Given the description of an element on the screen output the (x, y) to click on. 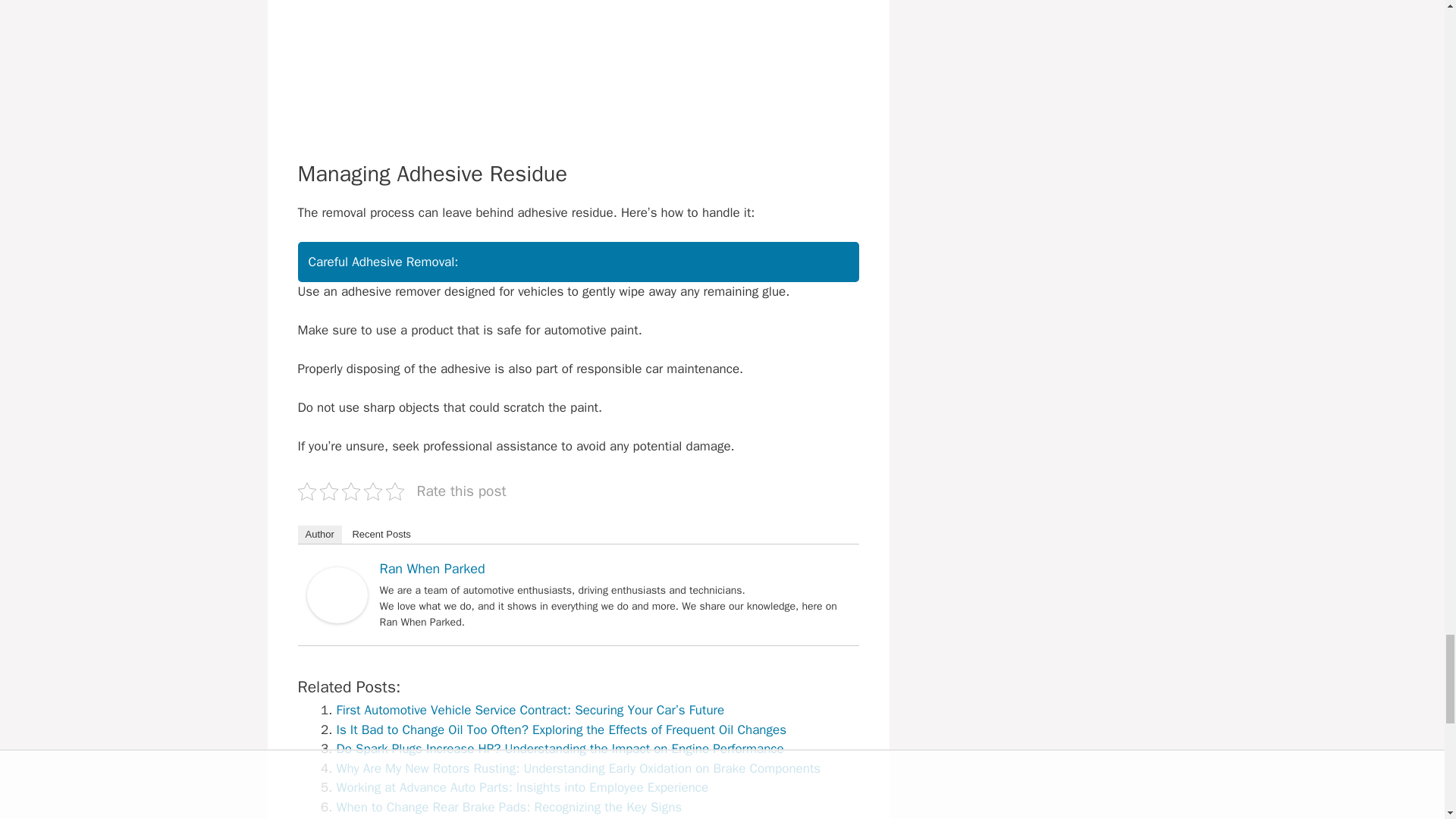
Ran When Parked (335, 618)
When to Change Rear Brake Pads: Recognizing the Key Signs (509, 806)
